Given the description of an element on the screen output the (x, y) to click on. 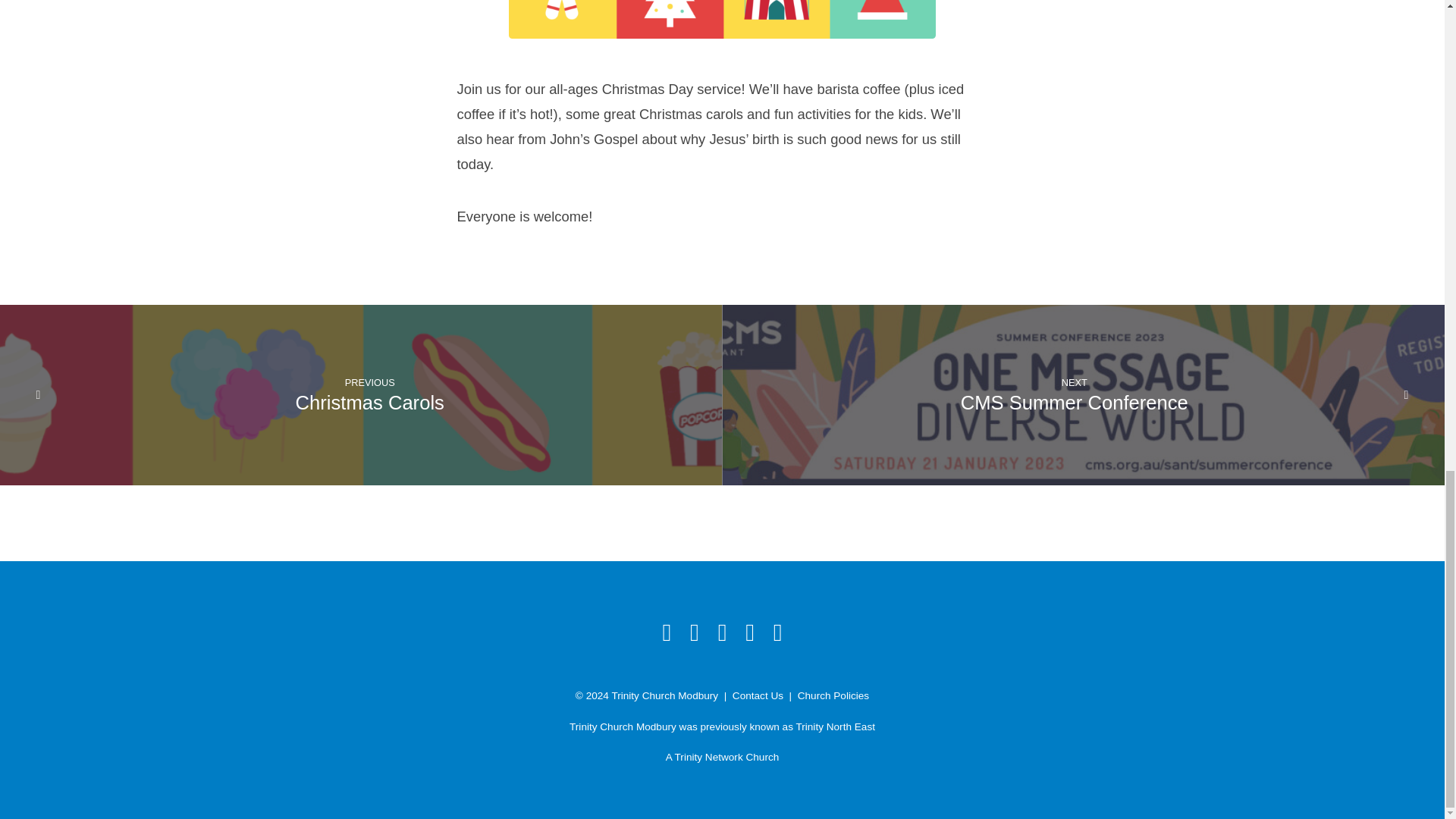
Church Policies (833, 695)
CMS Summer Conference (1074, 402)
A Trinity Network Church (721, 756)
Contact Us (757, 695)
Christmas Carols (369, 402)
